Given the description of an element on the screen output the (x, y) to click on. 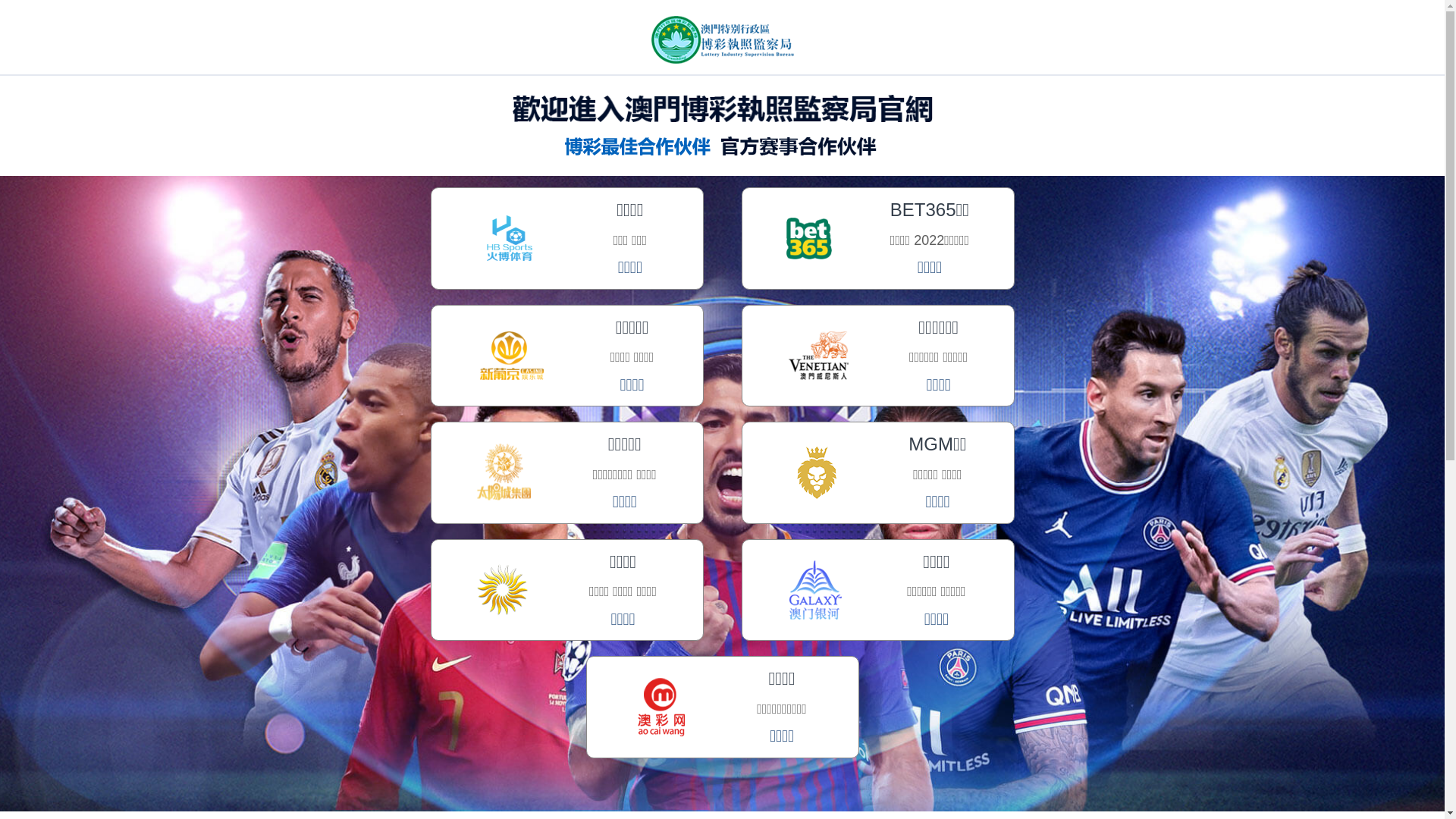
search Element type: text (12, 17)
